Given the description of an element on the screen output the (x, y) to click on. 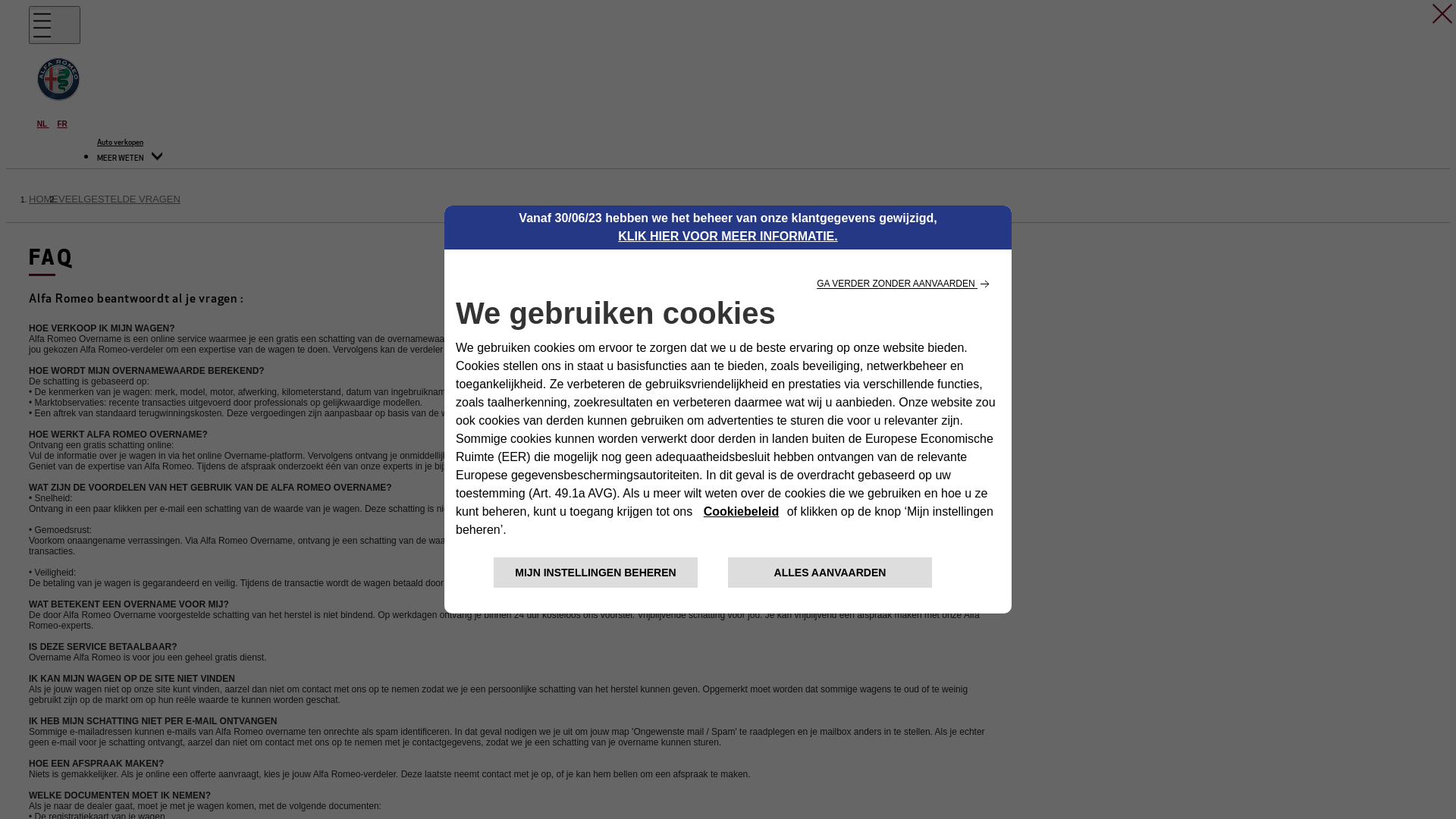
FR Element type: text (62, 123)
HOME Element type: text (43, 198)
MEER WETEN Element type: text (129, 158)
VEELGESTELDE VRAGEN Element type: text (119, 198)
NL Element type: text (43, 123)
Auto verkopen Element type: text (120, 142)
